Given the description of an element on the screen output the (x, y) to click on. 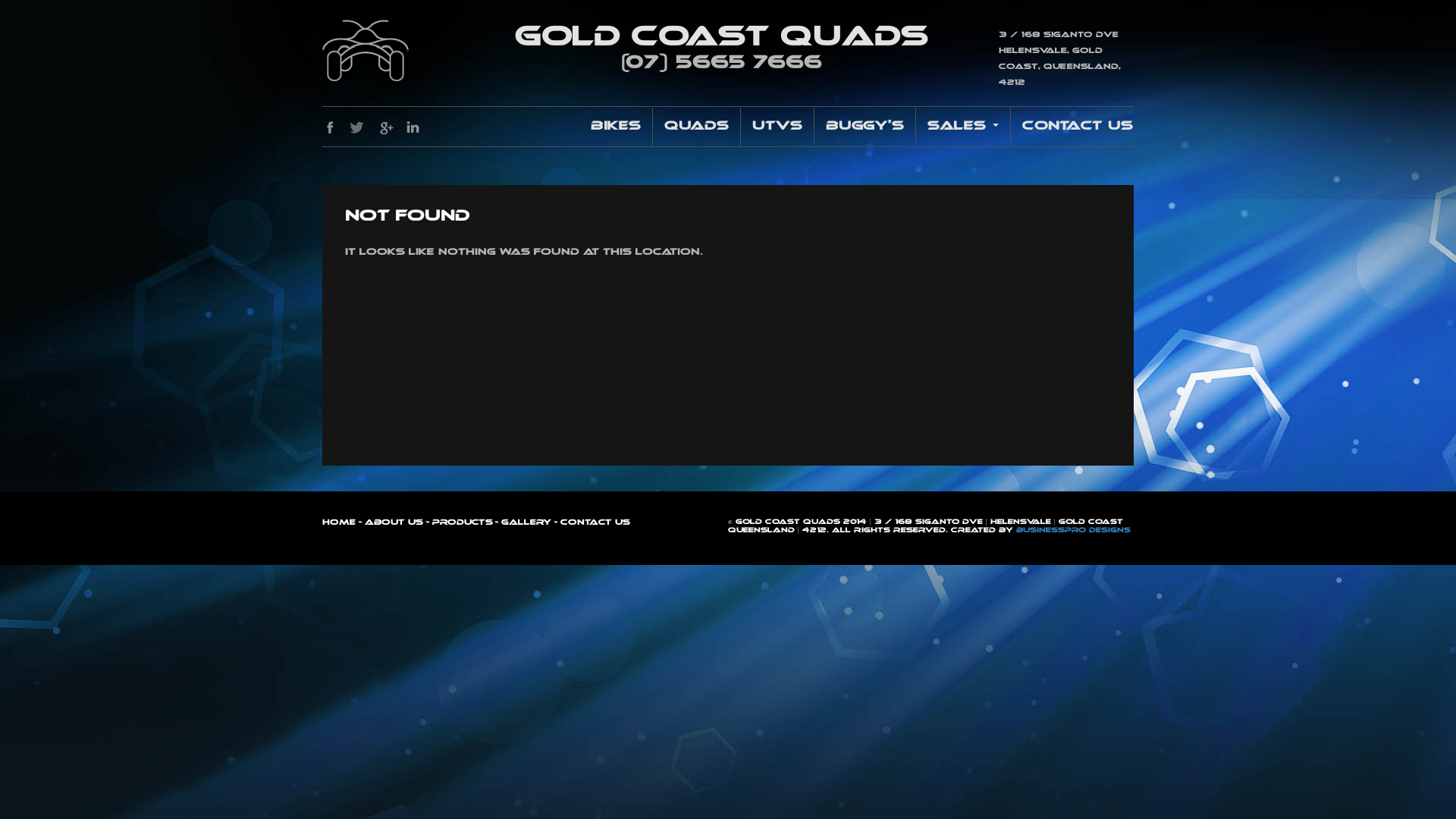
Gallery Element type: text (524, 522)
Home Element type: text (338, 522)
Googleplus Element type: text (385, 126)
UTVS Element type: text (776, 126)
Products Element type: text (460, 522)
Linkdin Element type: text (412, 126)
BIKES Element type: text (615, 126)
About us Element type: text (392, 522)
Twitter Element type: text (358, 126)
Facebook Element type: text (330, 126)
QUADS Element type: text (696, 126)
BusinessPro Designs Element type: text (1073, 530)
Contact Us Element type: text (594, 522)
SALES Element type: text (963, 126)
Contact Us Element type: text (1071, 126)
